Given the description of an element on the screen output the (x, y) to click on. 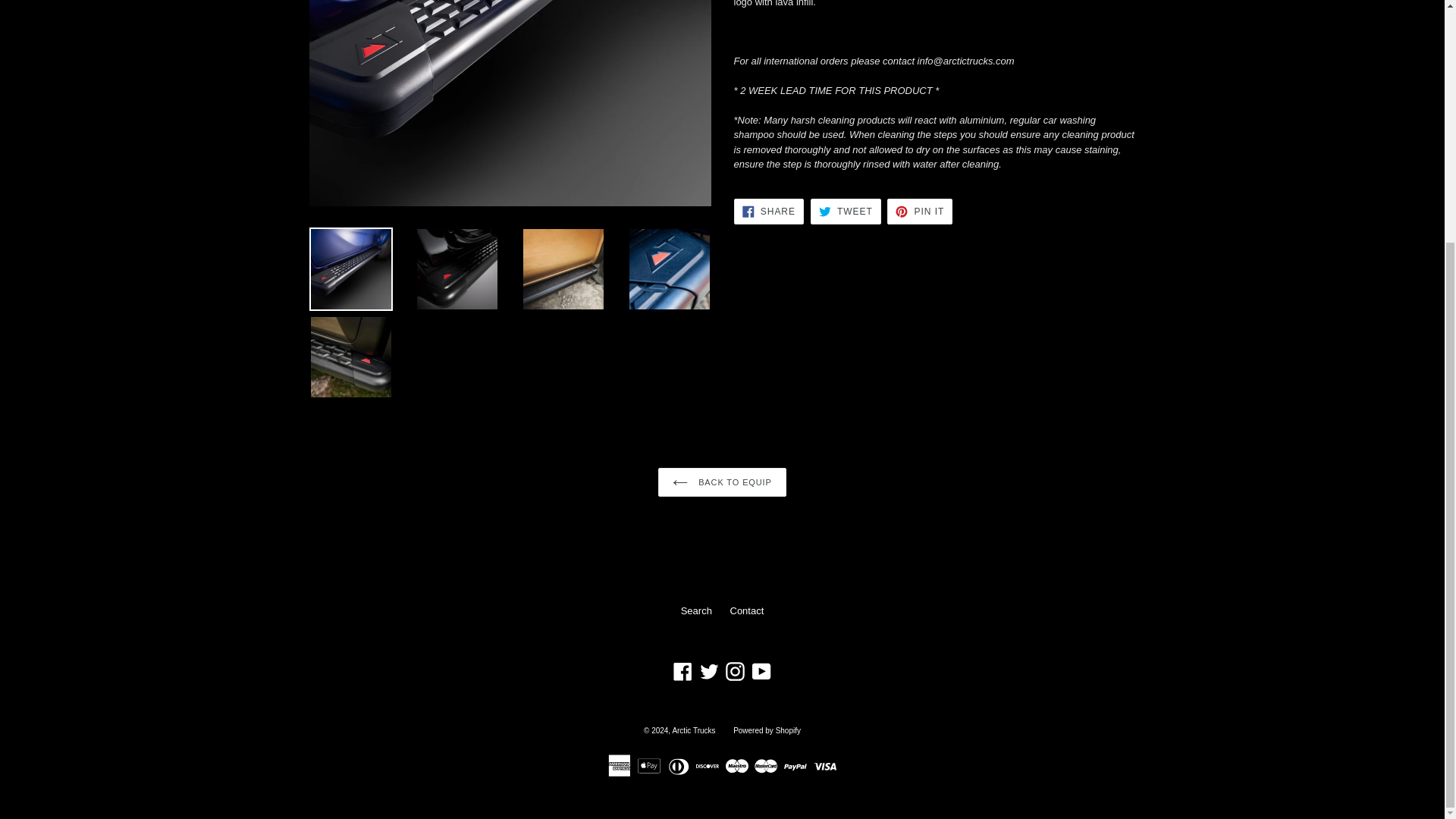
Pin on Pinterest (919, 211)
Arctic Trucks on YouTube (761, 670)
Share on Facebook (768, 211)
Arctic Trucks on Facebook (682, 670)
Arctic Trucks on Twitter (708, 670)
Arctic Trucks on Instagram (734, 670)
Tweet on Twitter (845, 211)
